Given the description of an element on the screen output the (x, y) to click on. 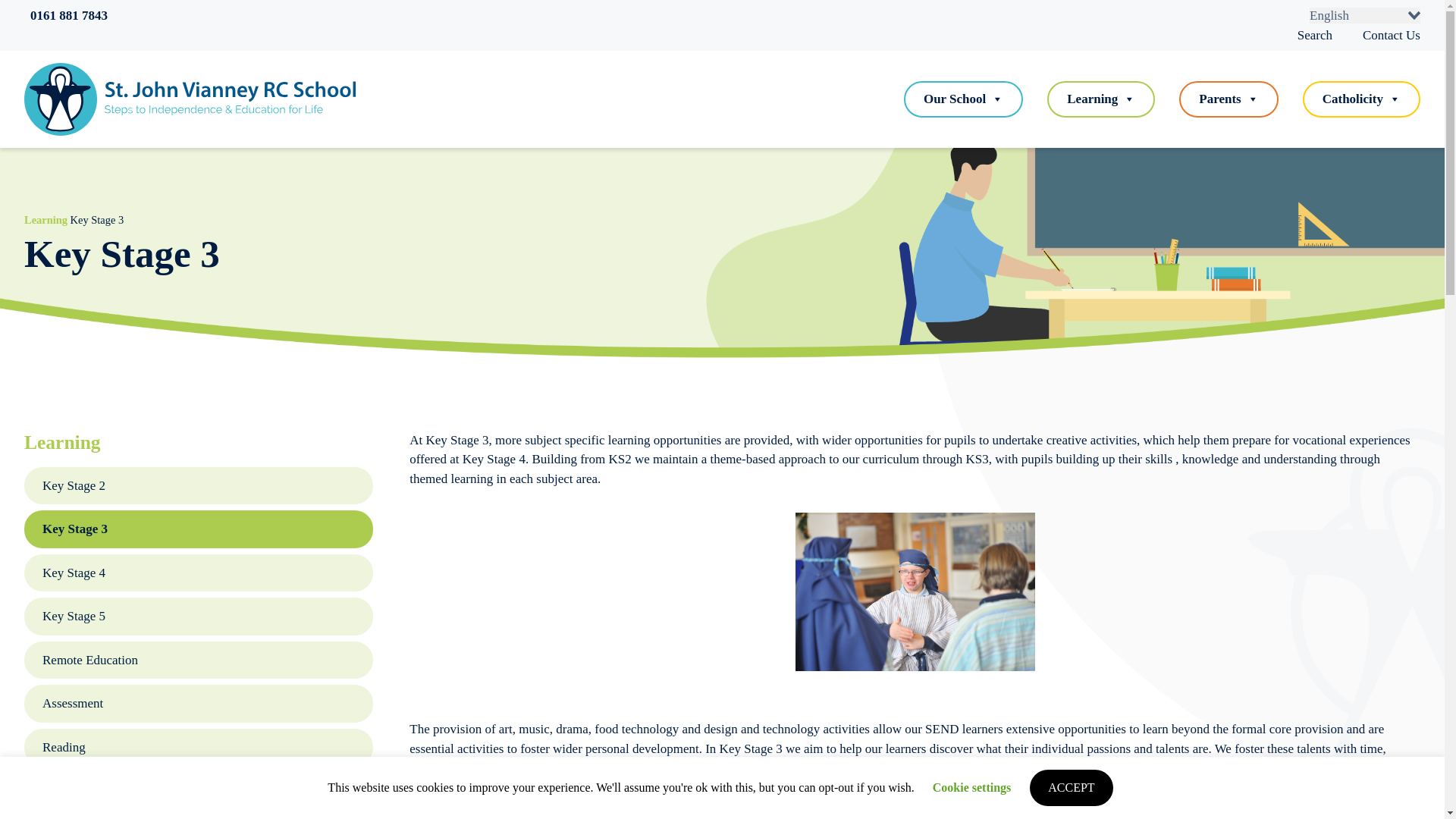
Search (1317, 34)
0161 881 7843 (65, 15)
Contact Us (1391, 34)
Our School (963, 99)
Learning (1100, 99)
